Given the description of an element on the screen output the (x, y) to click on. 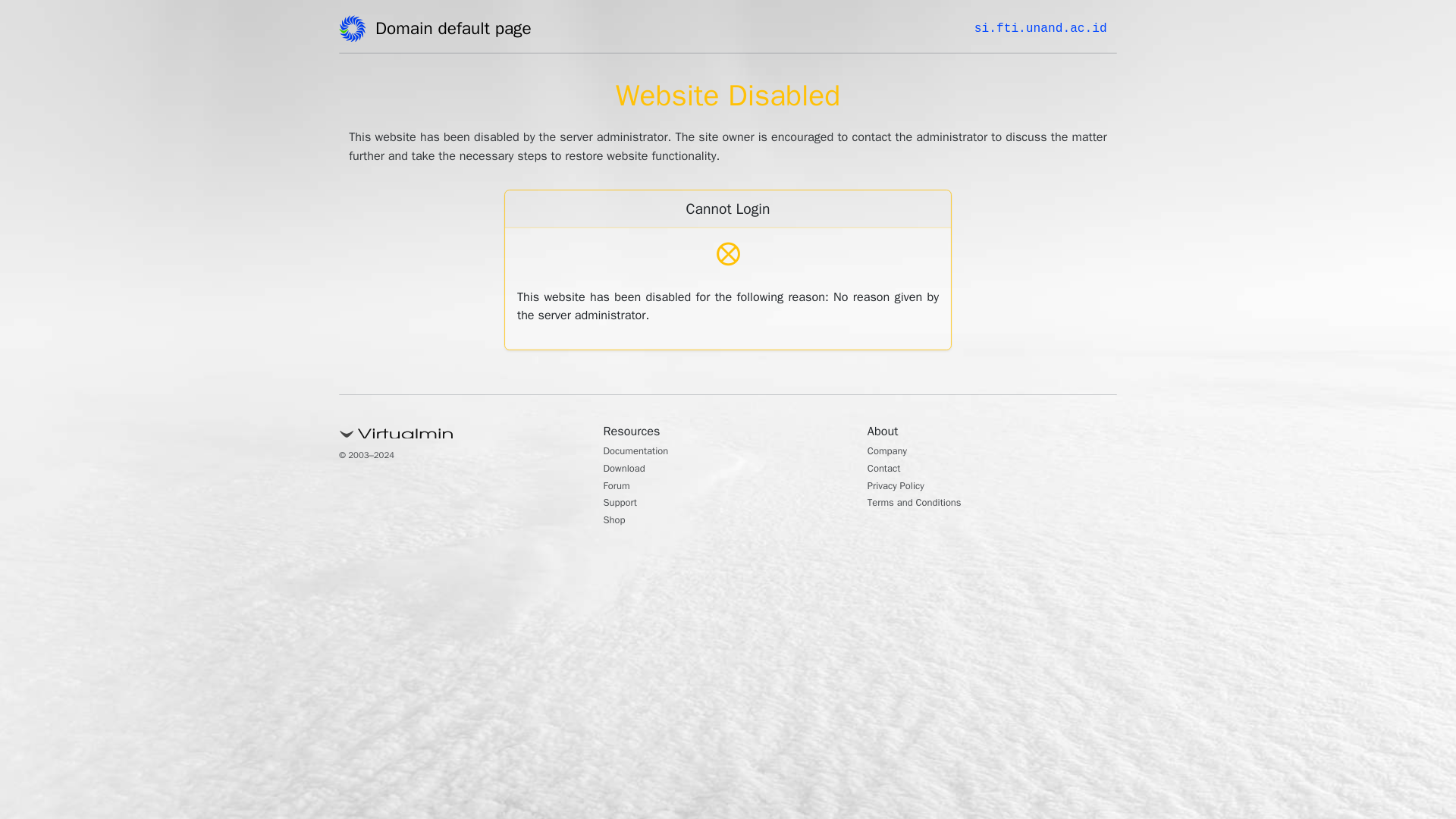
Contact (887, 469)
Terms and Conditions (925, 503)
Privacy Policy (902, 487)
Download (629, 469)
Forum (620, 487)
Documentation (644, 452)
Company (891, 452)
Shop (617, 521)
Support (624, 503)
Domain default page (457, 31)
